Given the description of an element on the screen output the (x, y) to click on. 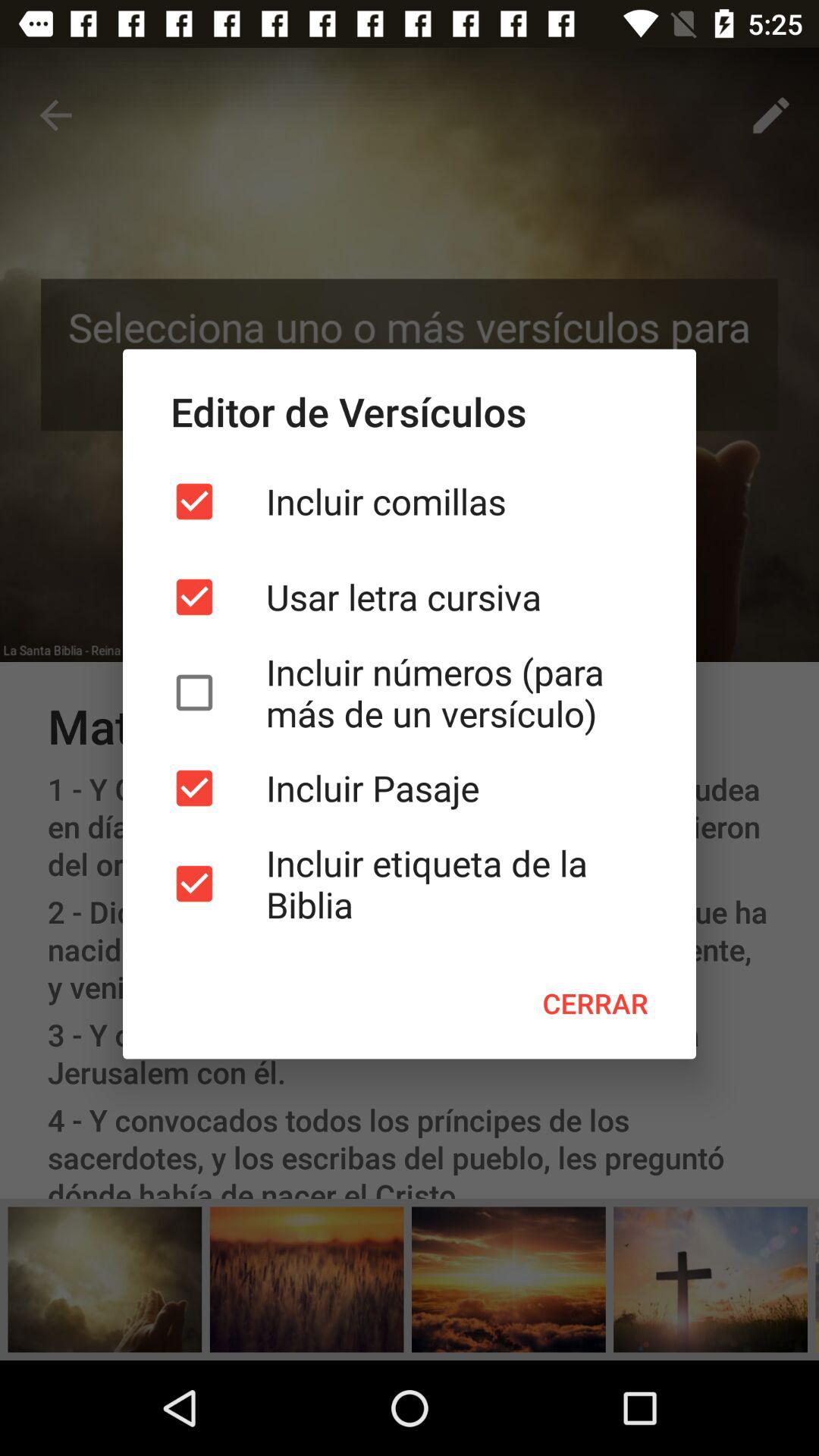
launch item below incluir etiqueta de (595, 1003)
